Given the description of an element on the screen output the (x, y) to click on. 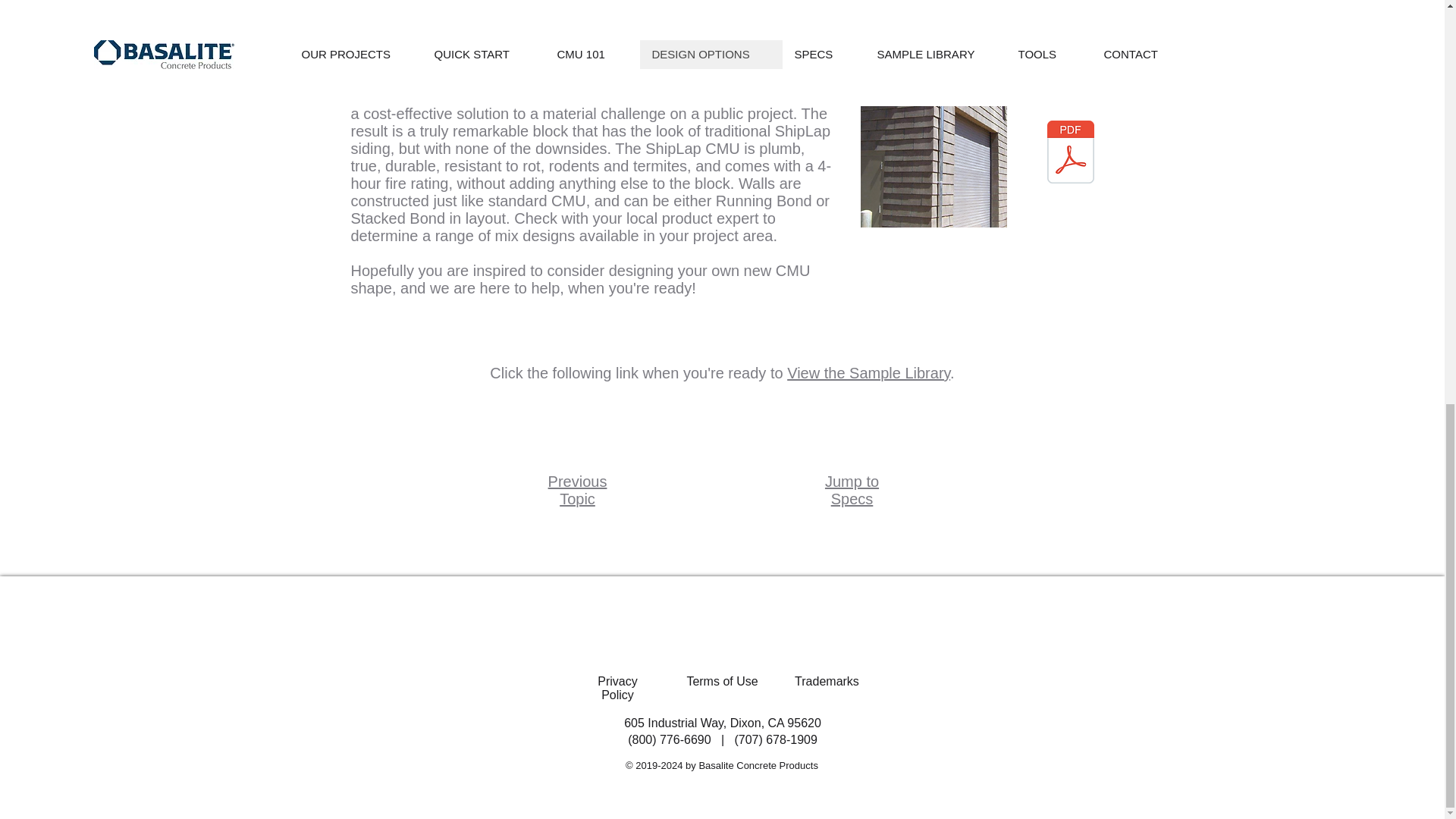
SPEC-BRIKWEB2018.04.19.pdf (1070, 153)
